Given the description of an element on the screen output the (x, y) to click on. 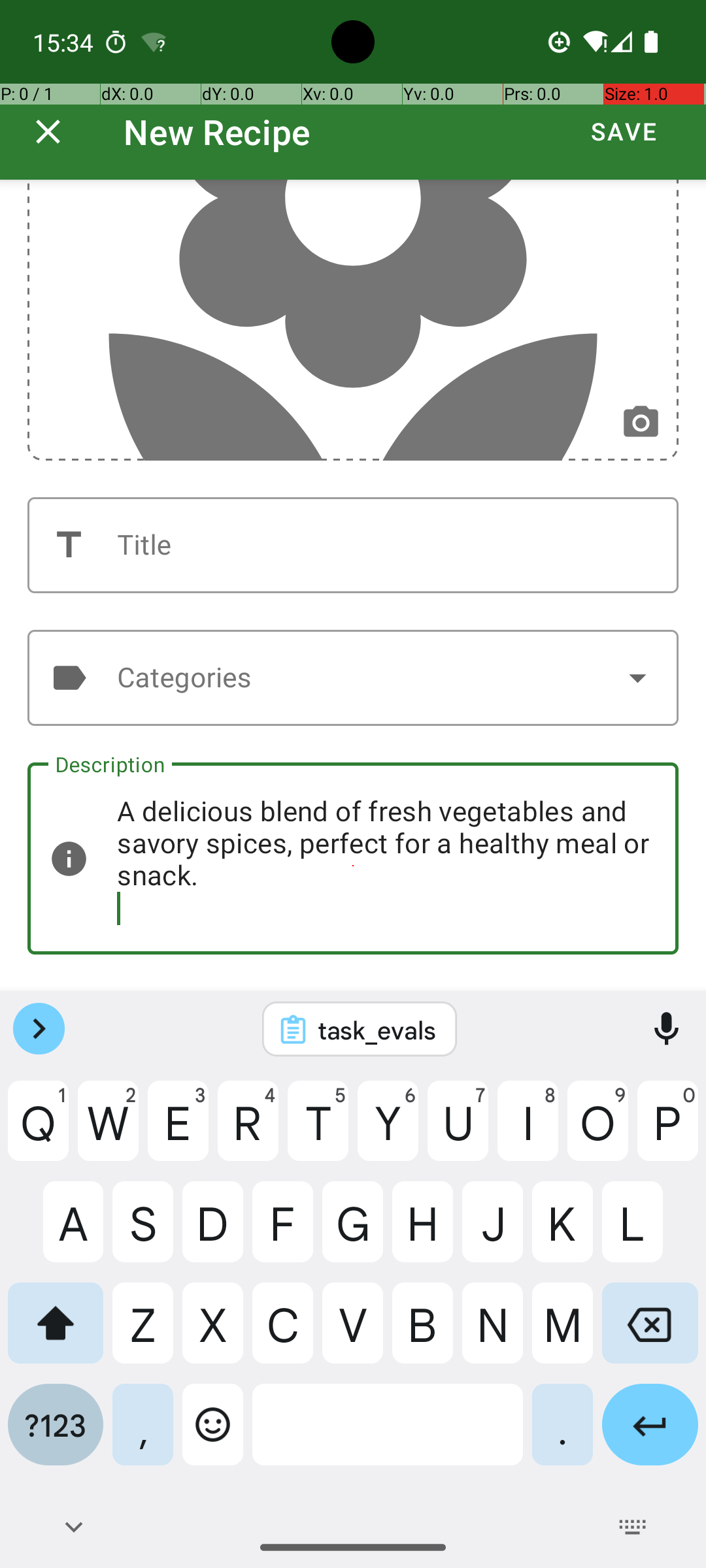
A delicious blend of fresh vegetables and savory spices, perfect for a healthy meal or snack.
 Element type: android.widget.EditText (352, 858)
task_evals Element type: android.widget.TextView (376, 1029)
